Given the description of an element on the screen output the (x, y) to click on. 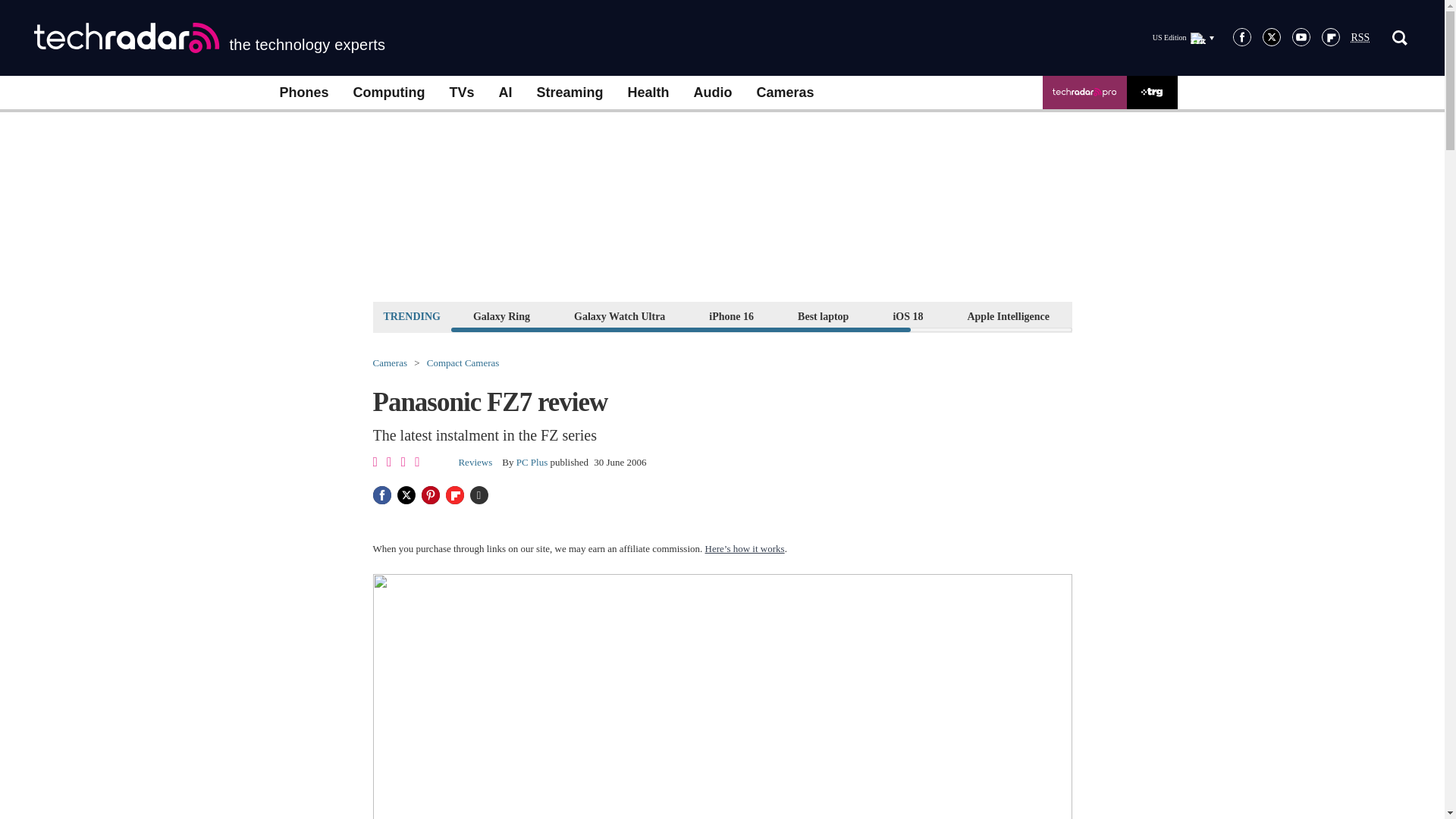
TVs (461, 92)
Health (648, 92)
Really Simple Syndication (1360, 37)
Cameras (785, 92)
the technology experts (209, 38)
Phones (303, 92)
Streaming (569, 92)
Computing (389, 92)
Audio (712, 92)
AI (505, 92)
US Edition (1182, 37)
